Given the description of an element on the screen output the (x, y) to click on. 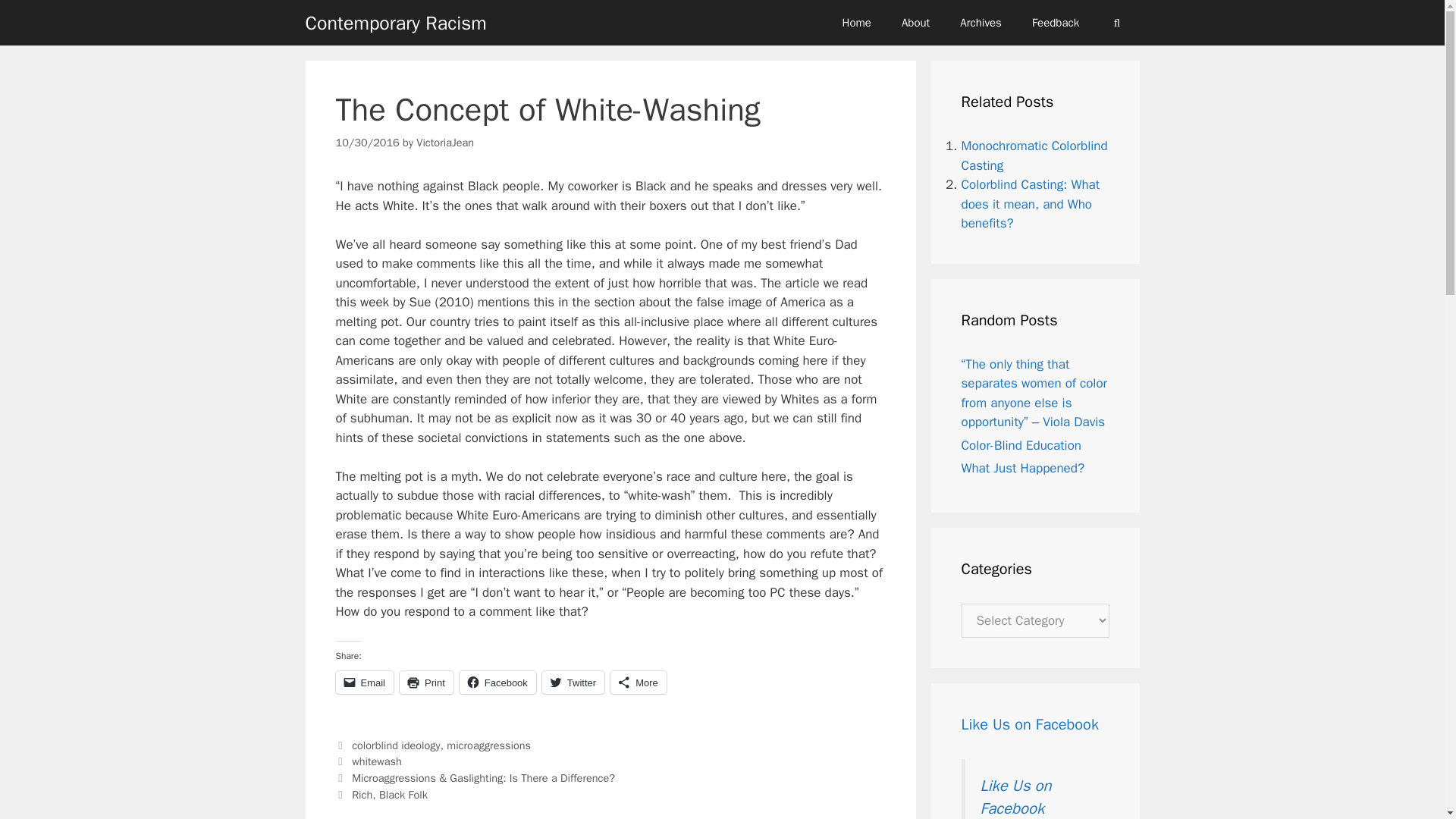
Colorblind Casting: What does it mean, and Who benefits? (1030, 203)
Home (856, 22)
whitewash (376, 761)
Click to print (425, 681)
Email (363, 681)
microaggressions (488, 745)
More (638, 681)
Contemporary Racism (395, 22)
Archives (980, 22)
Monochromatic Colorblind Casting (1034, 155)
colorblind ideology (395, 745)
Rich, Black Folk (390, 794)
About (915, 22)
Twitter (572, 681)
Facebook (497, 681)
